Given the description of an element on the screen output the (x, y) to click on. 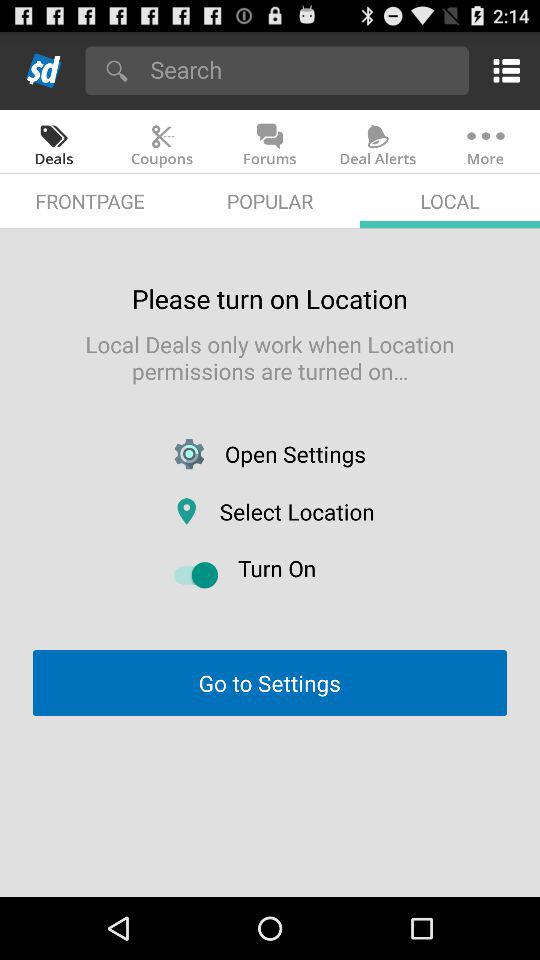
choose icon above the please turn on app (270, 200)
